Given the description of an element on the screen output the (x, y) to click on. 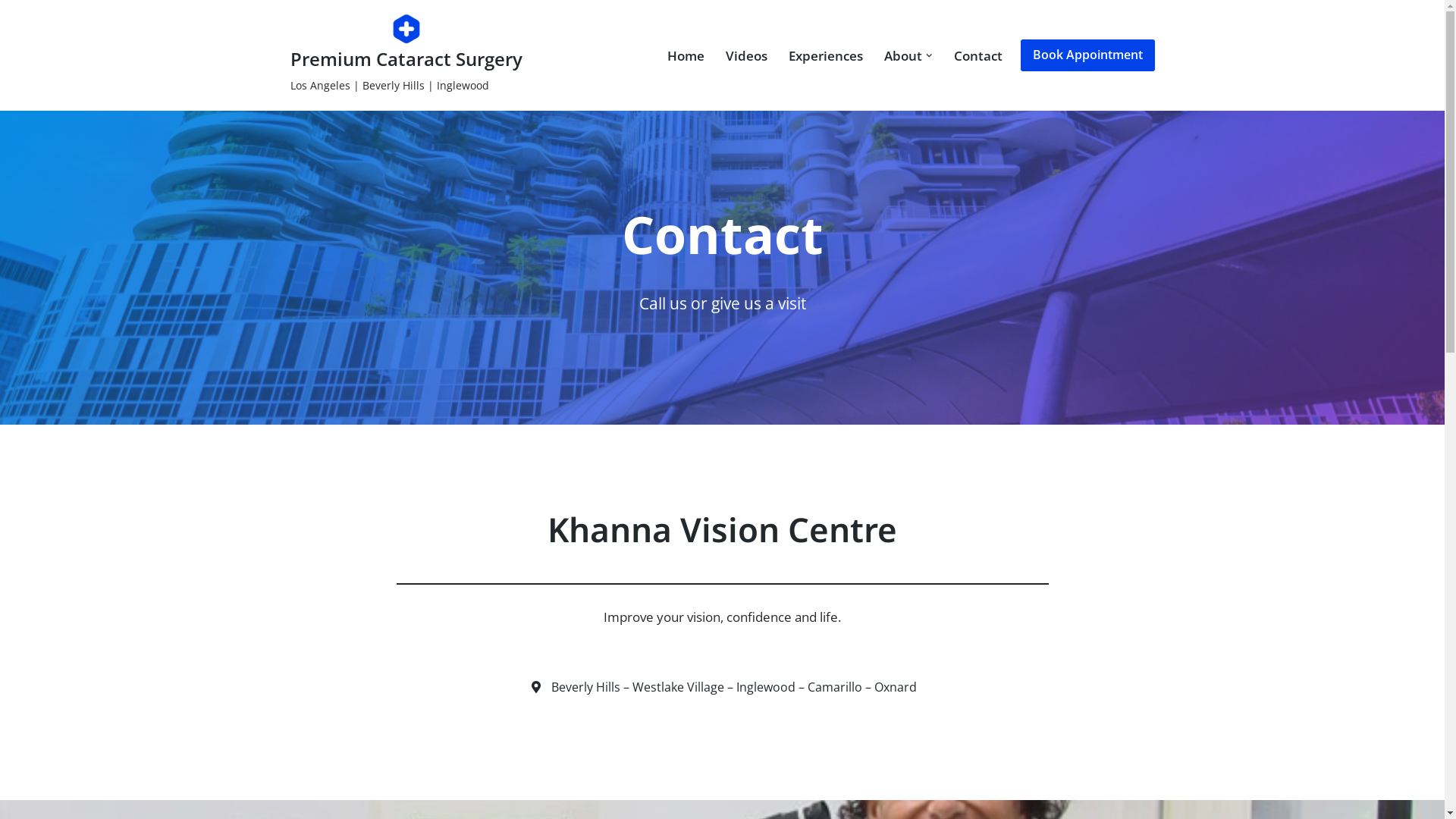
Videos Element type: text (746, 54)
Contact Element type: text (977, 54)
Book Appointment Element type: text (1087, 55)
About Element type: text (903, 54)
Experiences Element type: text (825, 54)
Skip to content Element type: text (11, 31)
Home Element type: text (685, 54)
